Given the description of an element on the screen output the (x, y) to click on. 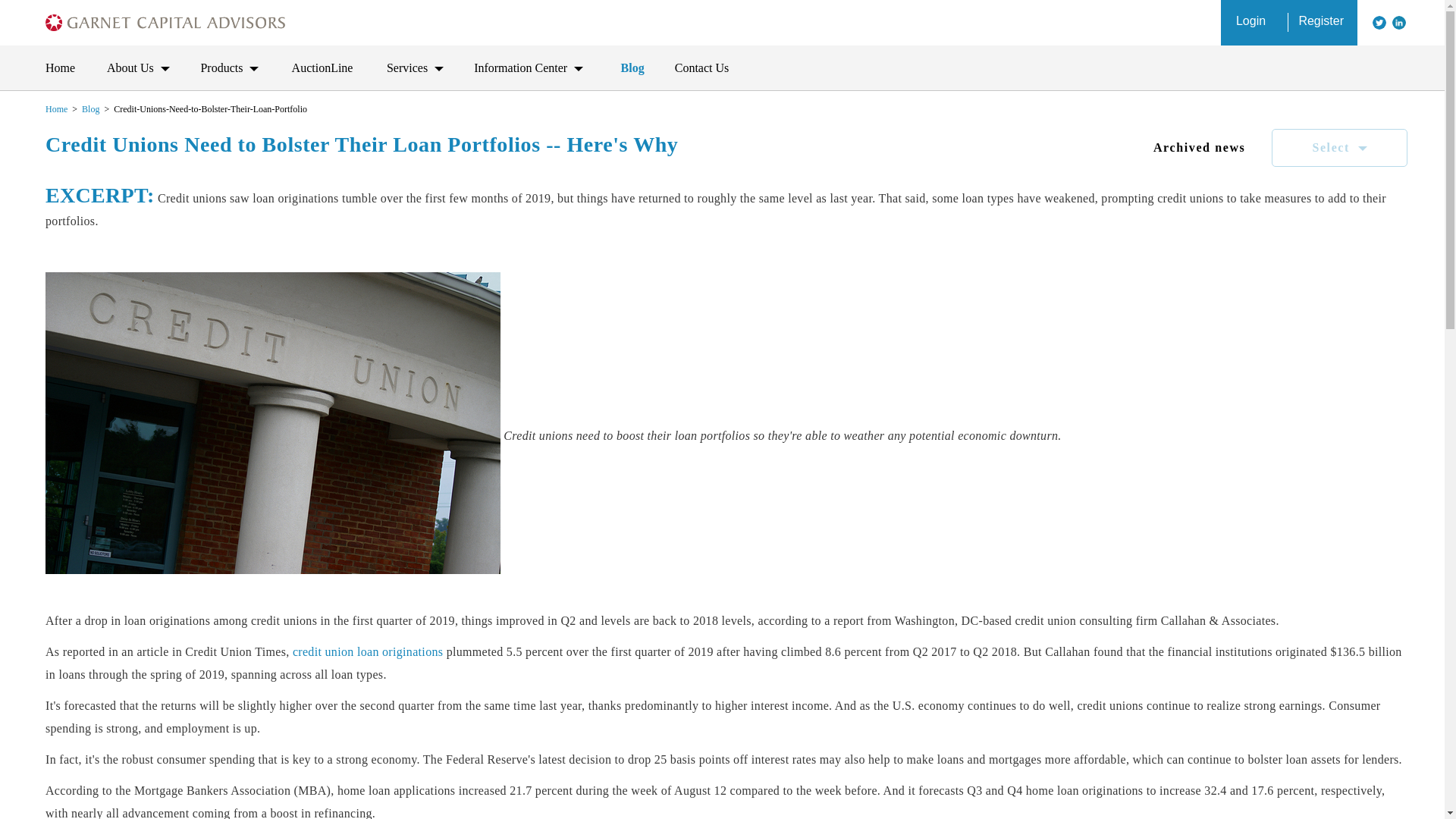
Products (230, 68)
Login (1254, 22)
Services (415, 68)
Services (415, 68)
Home (61, 68)
About Us (138, 68)
Information Center (531, 68)
Register (1322, 22)
AuctionLine (324, 68)
Garnet Capital Twitter (1379, 22)
Blog (90, 109)
Select (1339, 147)
Register (1322, 22)
About Us (138, 68)
LogIn (1254, 22)
